Given the description of an element on the screen output the (x, y) to click on. 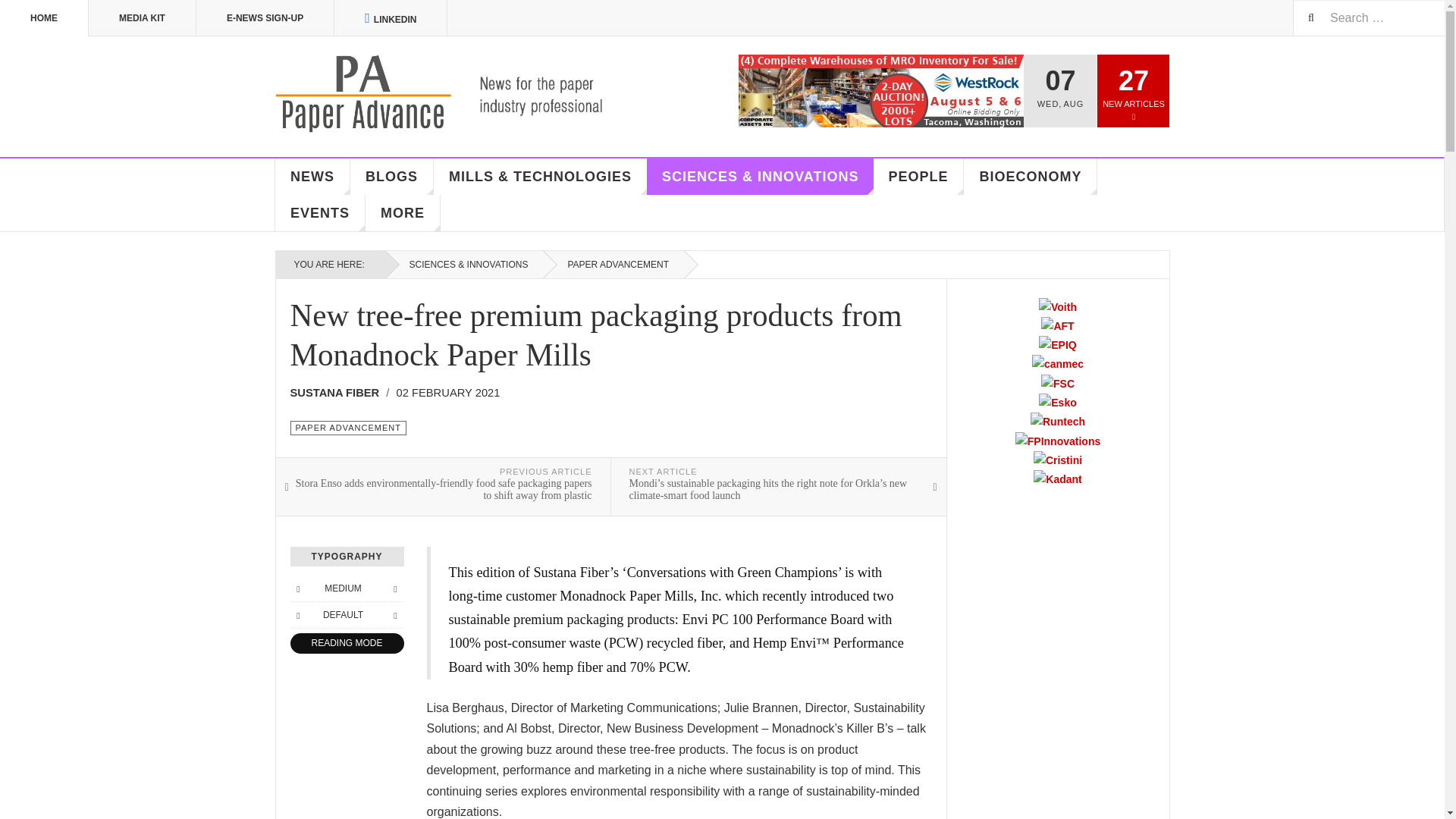
E-NEWS SIGN-UP (265, 18)
Paper Advance (461, 93)
NEWS (312, 176)
HOME (44, 18)
MEDIA KIT (142, 18)
LINKEDIN (390, 18)
